Given the description of an element on the screen output the (x, y) to click on. 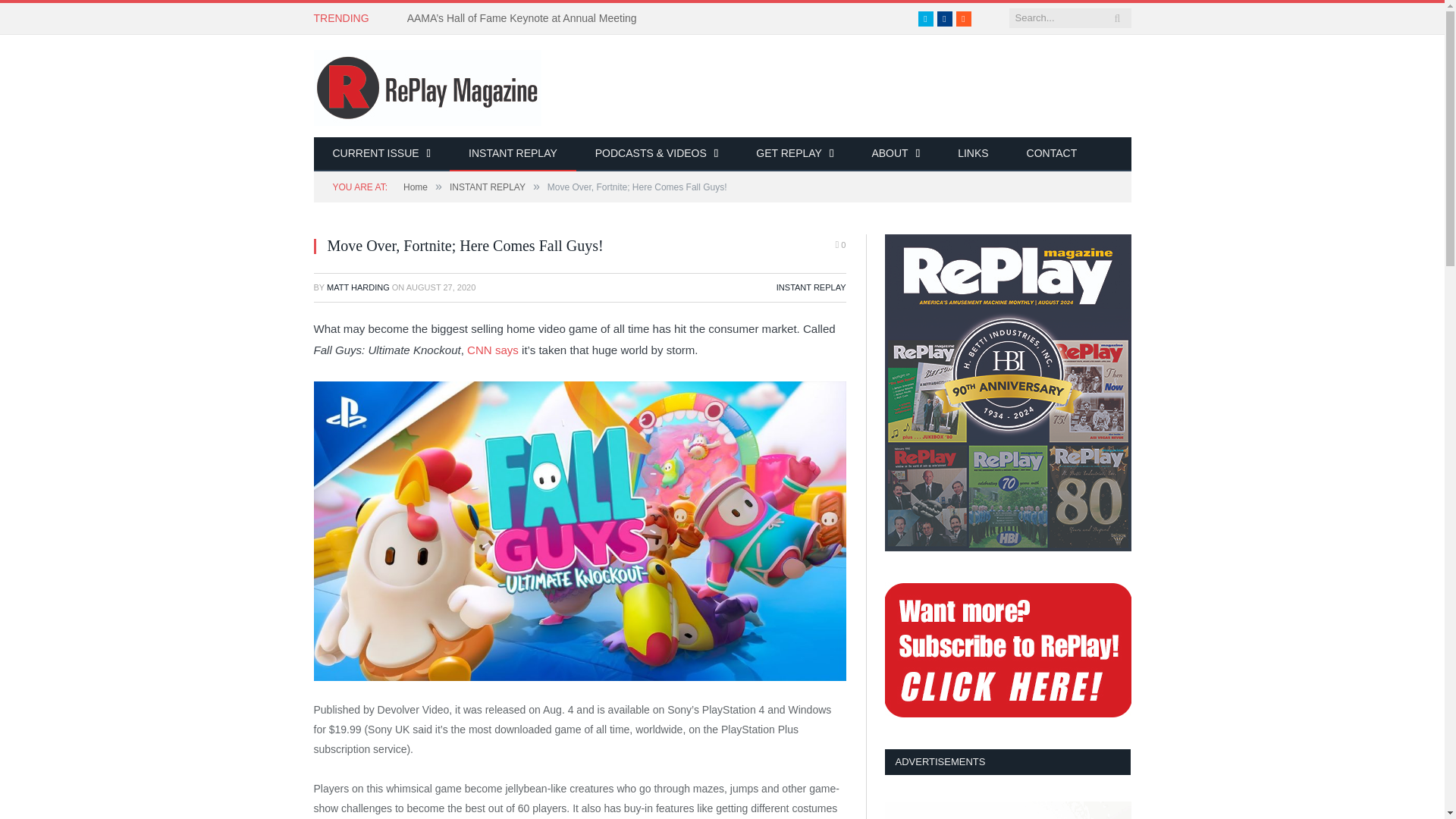
CURRENT ISSUE (381, 154)
2020-08-27 (441, 286)
Twitter (925, 18)
Posts by Matt Harding (358, 286)
RSS (963, 18)
INSTANT REPLAY (512, 154)
Facebook (944, 18)
RePlay Magazine (427, 85)
